Given the description of an element on the screen output the (x, y) to click on. 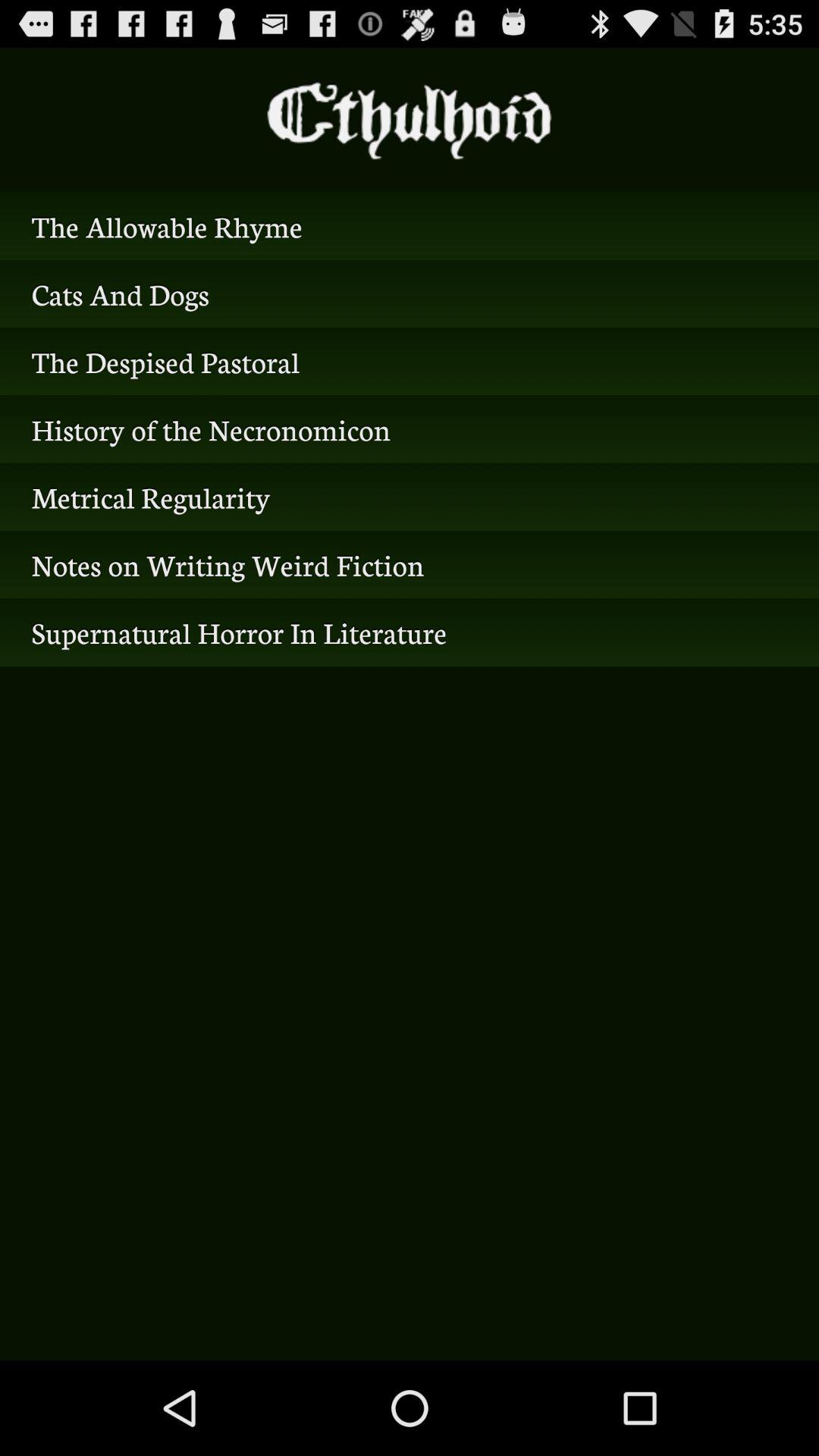
scroll to the metrical regularity item (409, 496)
